Given the description of an element on the screen output the (x, y) to click on. 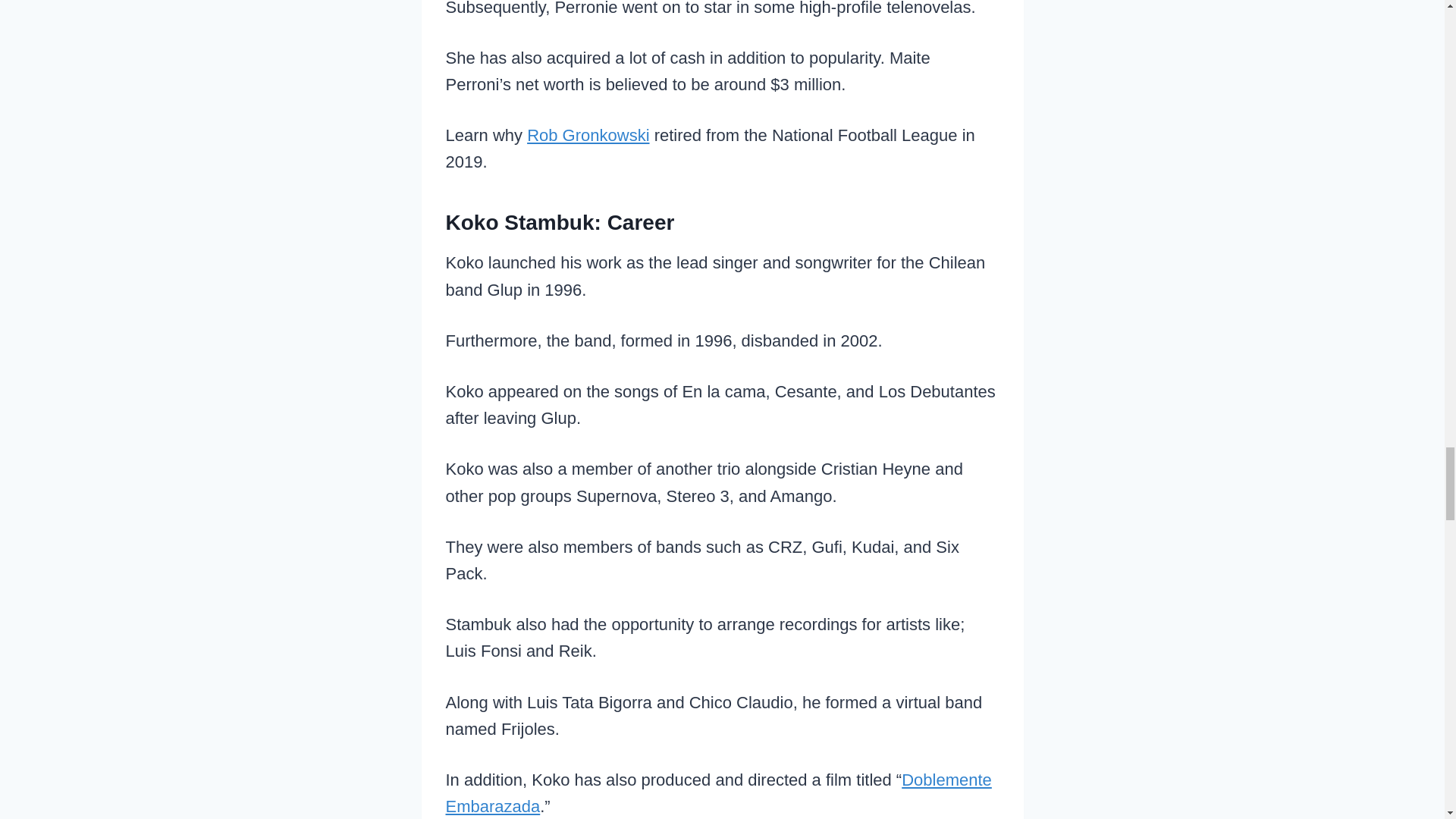
Rob Gronkowski (588, 135)
Doblemente Embarazada (718, 792)
